Given the description of an element on the screen output the (x, y) to click on. 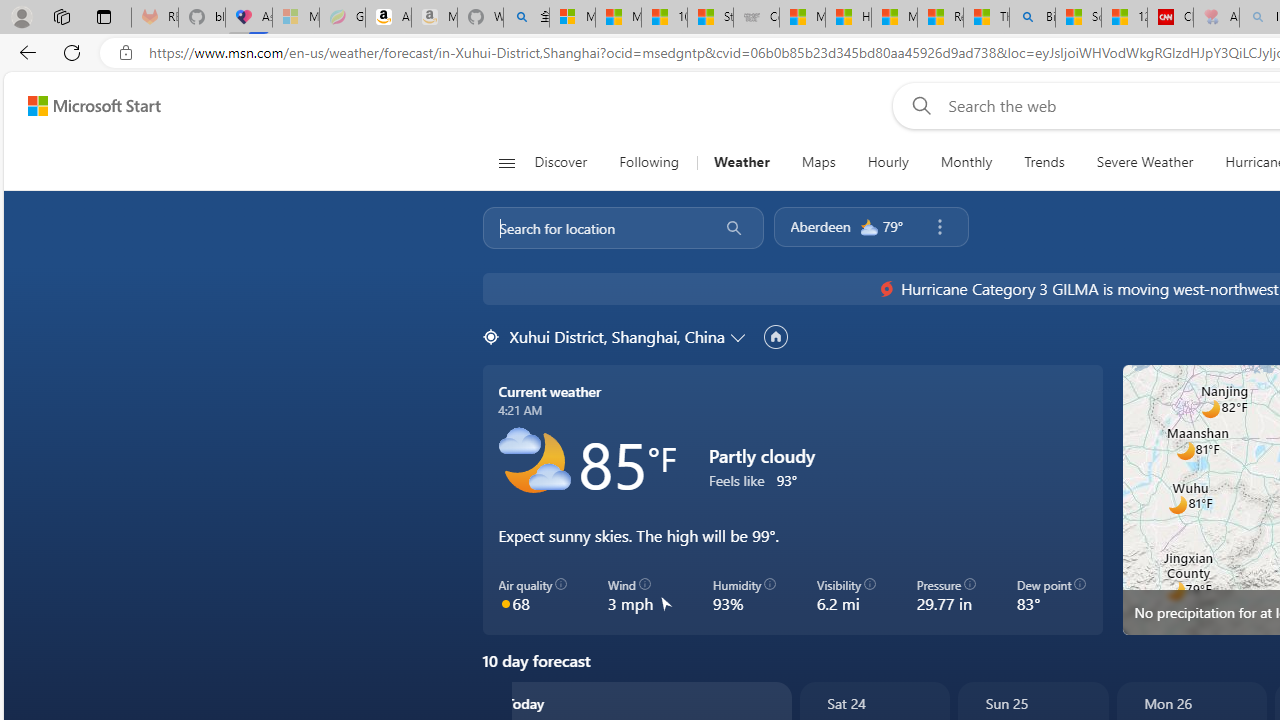
Partly cloudy (533, 462)
Daily (65, 492)
Precipitation (1154, 396)
